Given the description of an element on the screen output the (x, y) to click on. 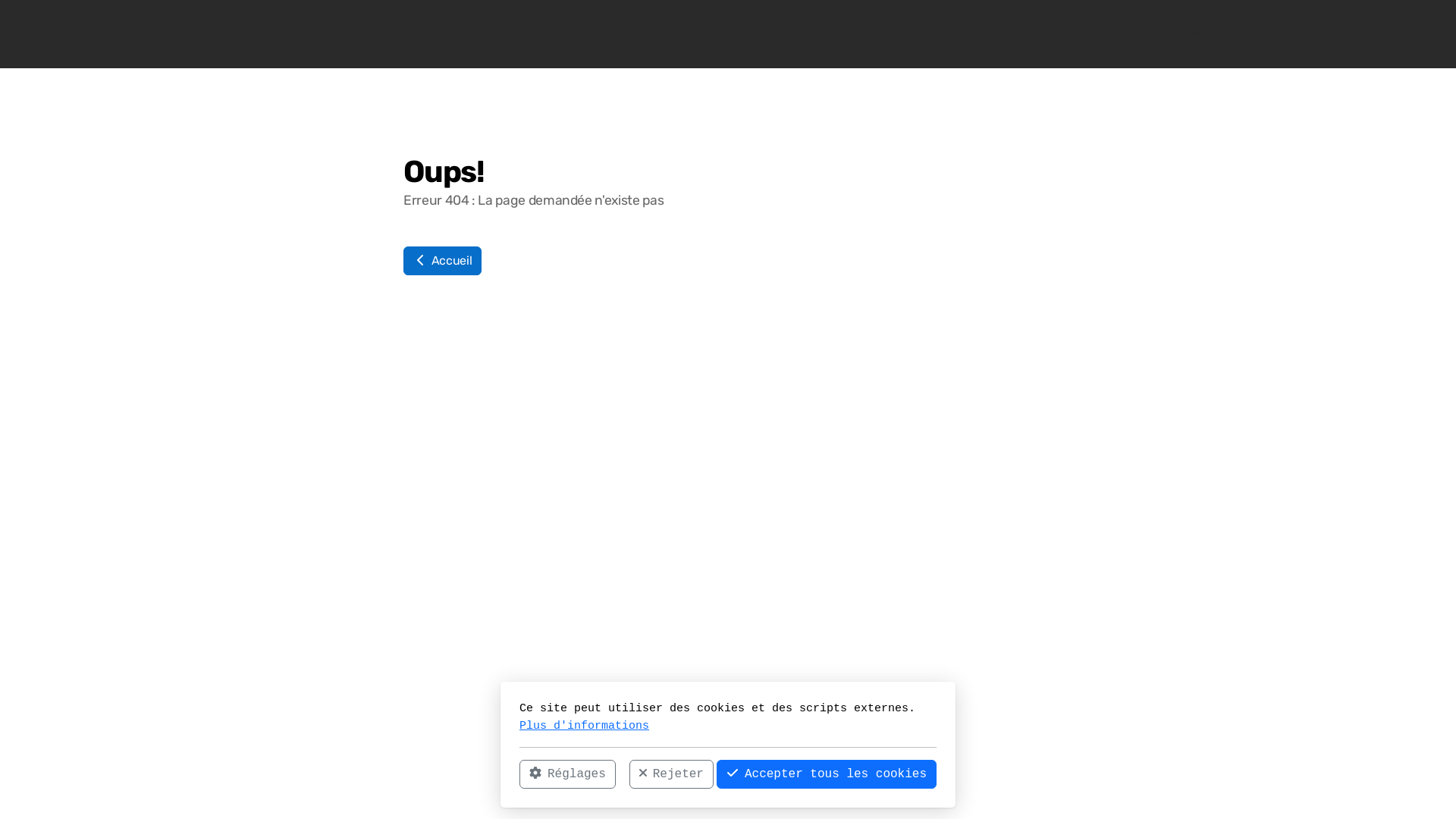
basic. Element type: text (259, 34)
Plus d'informations Element type: text (584, 724)
Accepter tous les cookies Element type: text (826, 773)
Accueil Element type: text (1184, 33)
Rejeter Element type: text (671, 773)
Accueil Element type: text (442, 260)
